Given the description of an element on the screen output the (x, y) to click on. 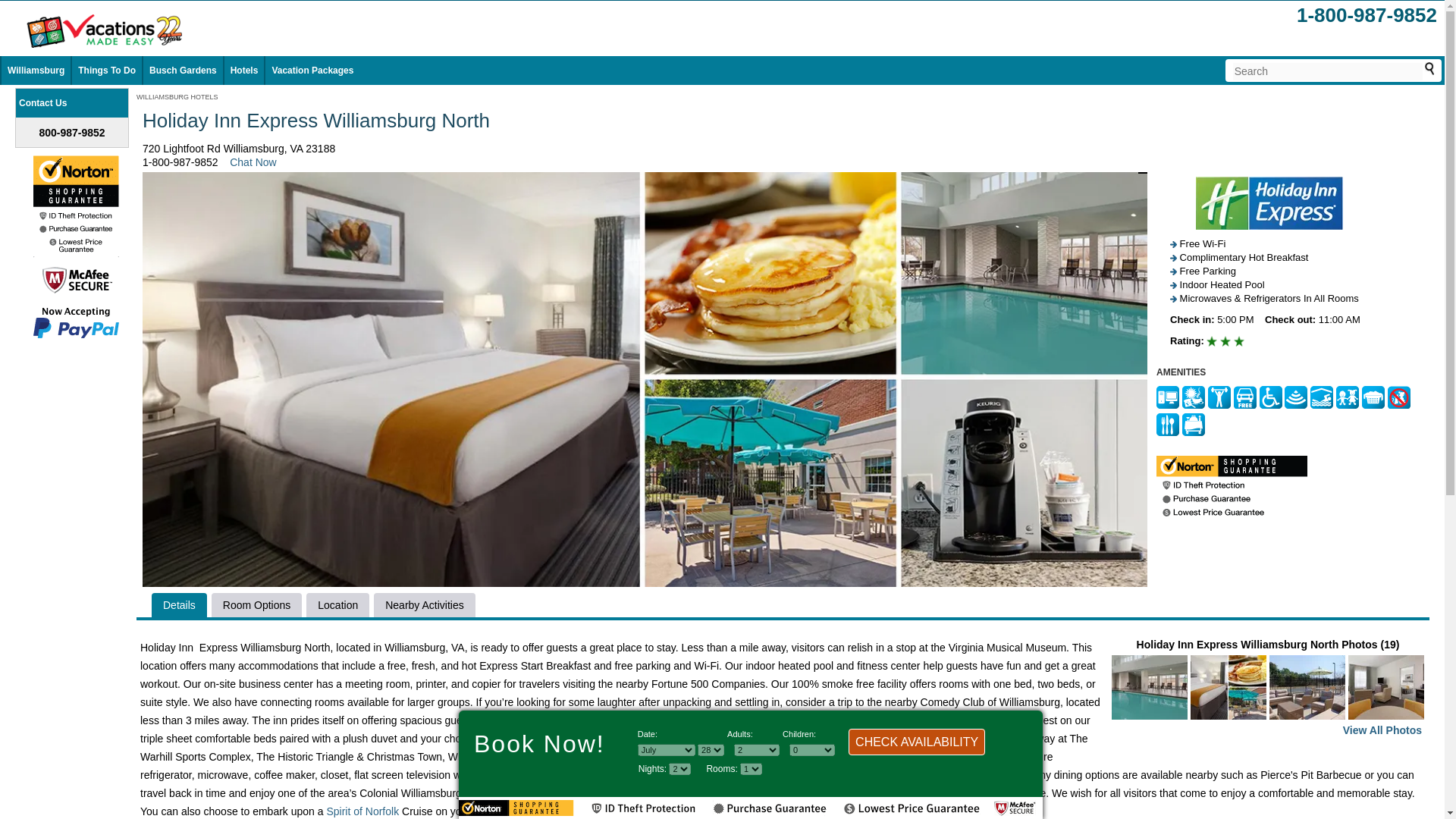
Nearby Activities (424, 604)
Williamsburg (504, 811)
vacation (556, 811)
Restaurant (1167, 423)
Williamsburg (35, 70)
Busch Gardens (182, 70)
Fitness Center (1219, 395)
Laundry Service (1372, 395)
Pets Not Allowed (1398, 395)
High Speed Internet Access (1295, 395)
Room Service (1193, 423)
Handicap Access (1270, 395)
Free Parking (1244, 395)
Details (179, 604)
Vacation Packages (311, 70)
